Given the description of an element on the screen output the (x, y) to click on. 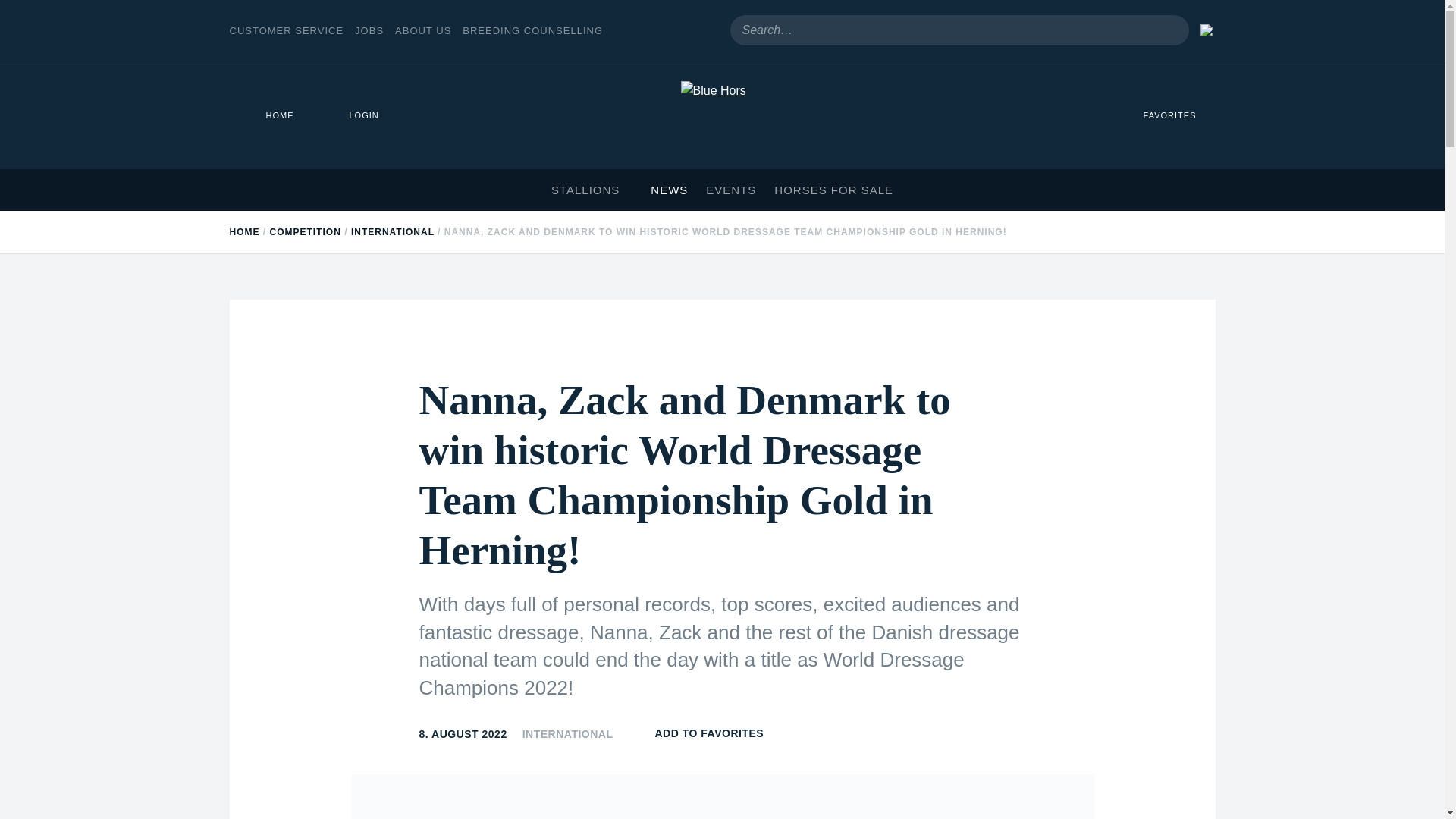
EVENTS (731, 189)
JOBS (369, 30)
ABOUT US (422, 30)
LOGIN (355, 115)
NEWS (669, 189)
CUSTOMER SERVICE (285, 30)
STALLIONS (591, 189)
BREEDING COUNSELLING (532, 30)
HOME (270, 115)
FAVORITES (1160, 115)
